Given the description of an element on the screen output the (x, y) to click on. 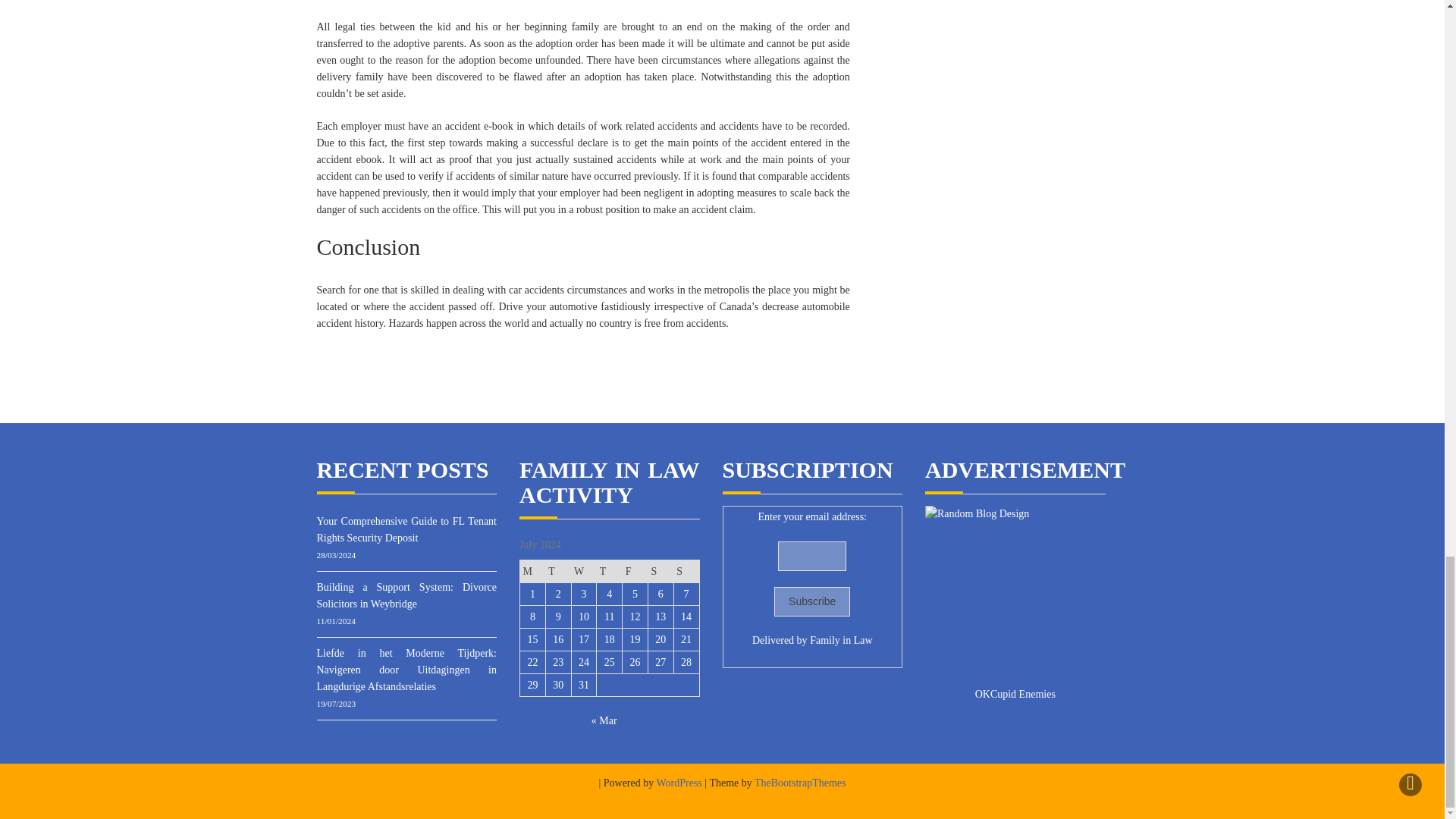
Subscribe (812, 601)
Monday (532, 571)
